Given the description of an element on the screen output the (x, y) to click on. 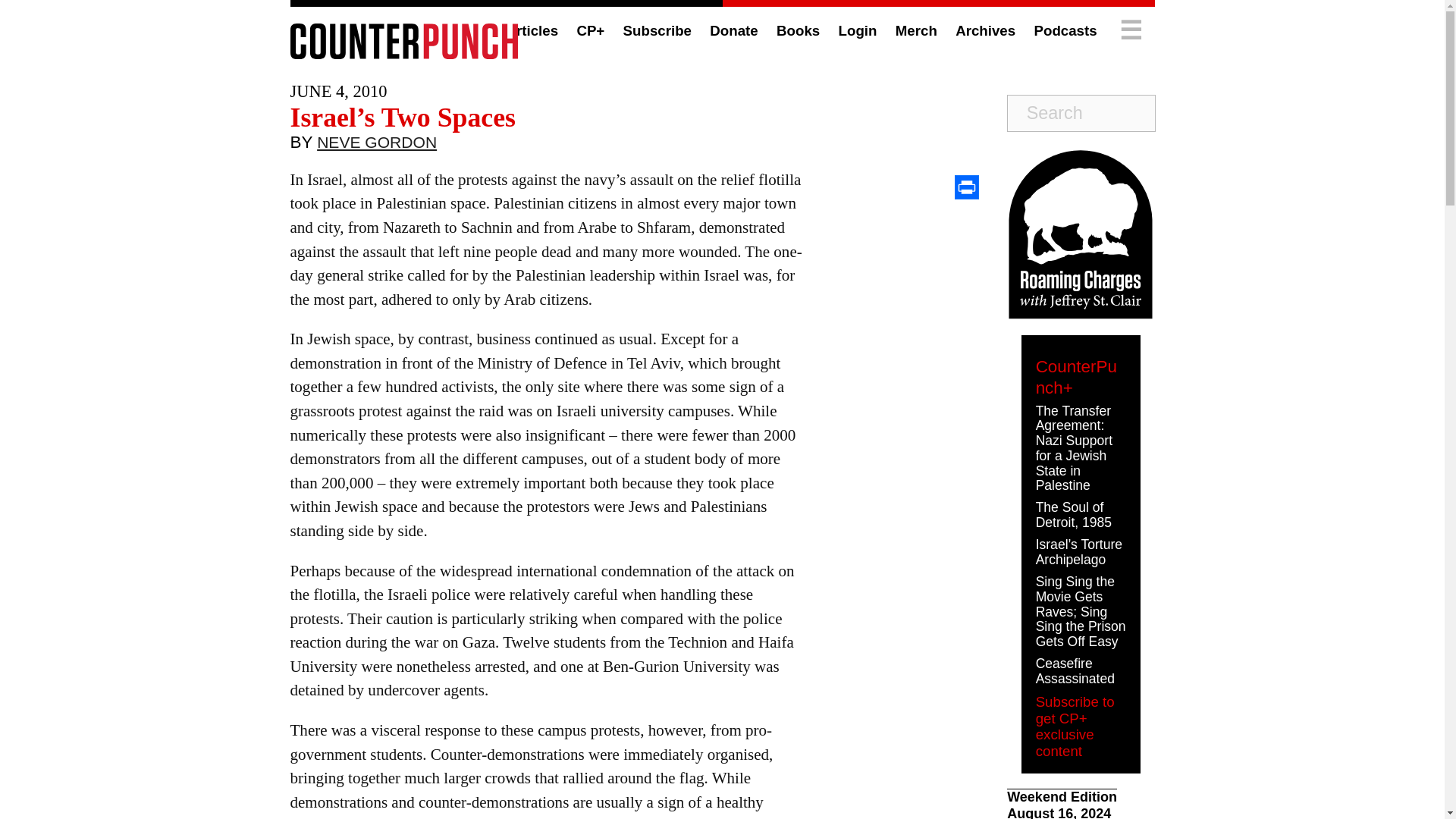
Print This Post (966, 187)
Subscribe (657, 30)
2010-06-04 (338, 90)
Podcasts (1064, 30)
Login (857, 30)
Books (797, 30)
Merch (916, 30)
NEVE GORDON (376, 145)
The Soul of Detroit, 1985 (1073, 514)
